Given the description of an element on the screen output the (x, y) to click on. 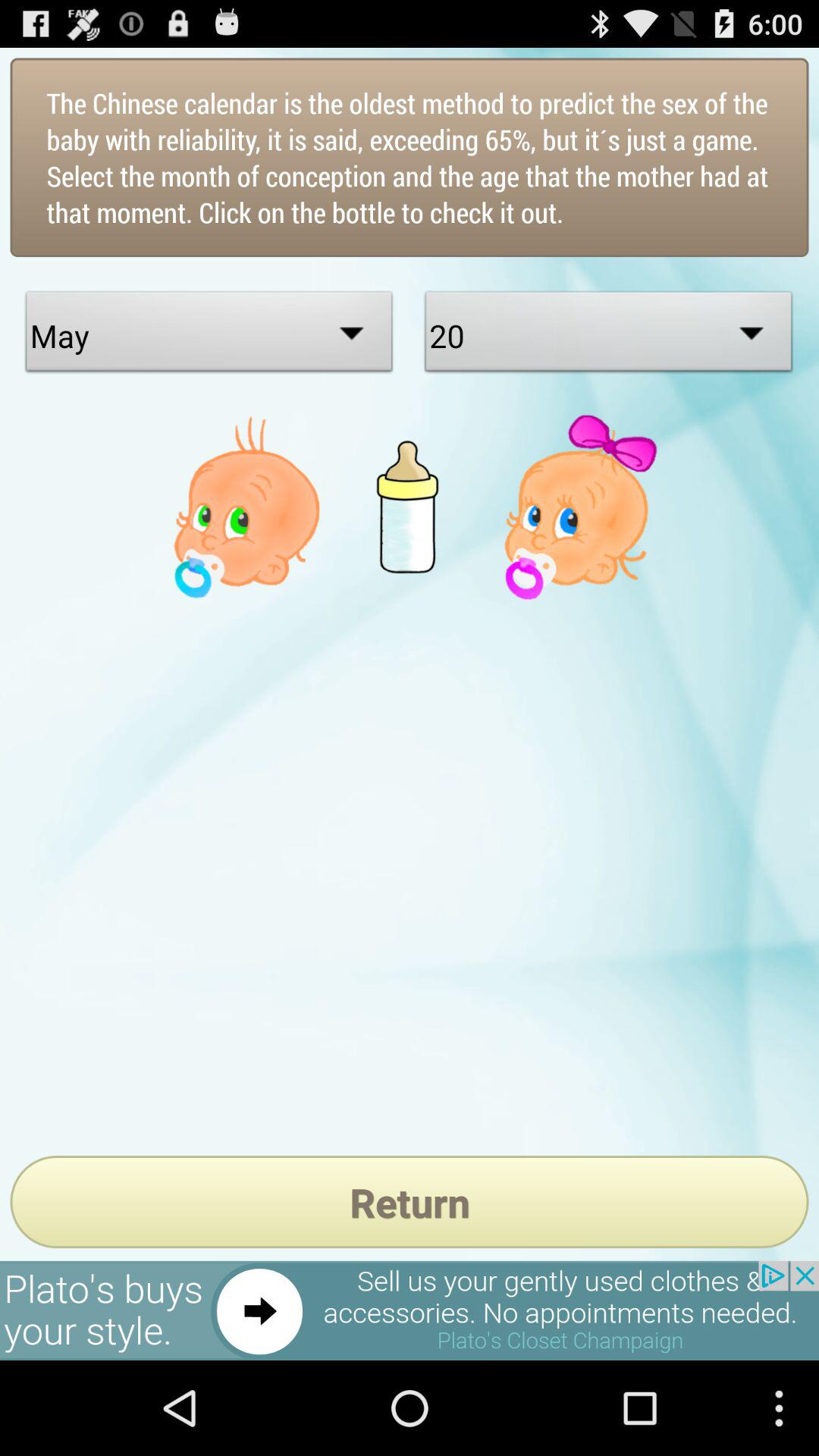
go to next (409, 1310)
